Given the description of an element on the screen output the (x, y) to click on. 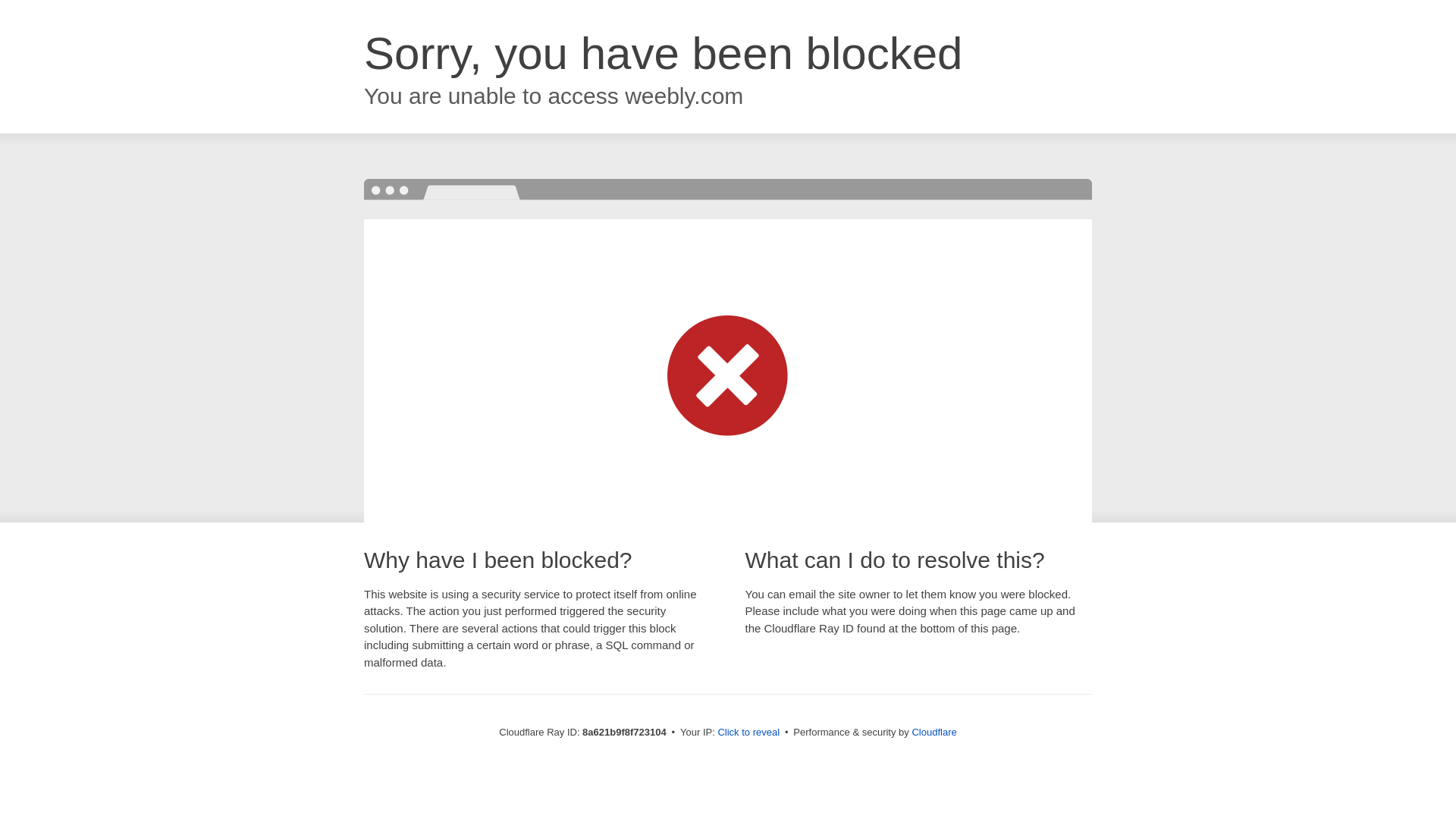
Cloudflare (933, 731)
Click to reveal (747, 732)
